Given the description of an element on the screen output the (x, y) to click on. 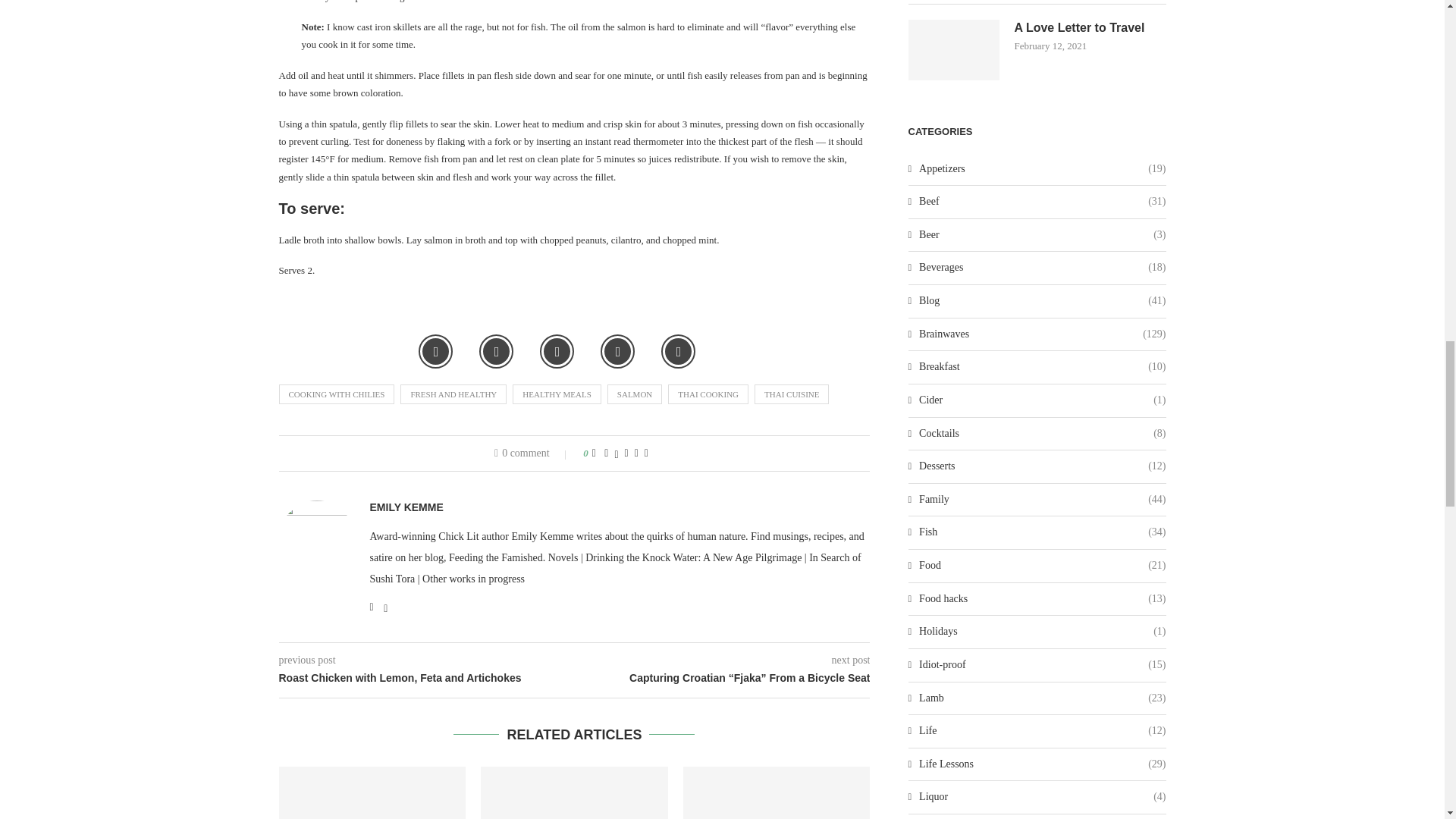
Red Miso Ginger Sea Bass (574, 792)
Chicken Sausage with Swiss Chard and Apples (372, 792)
Author Emily Kemme (406, 507)
